Given the description of an element on the screen output the (x, y) to click on. 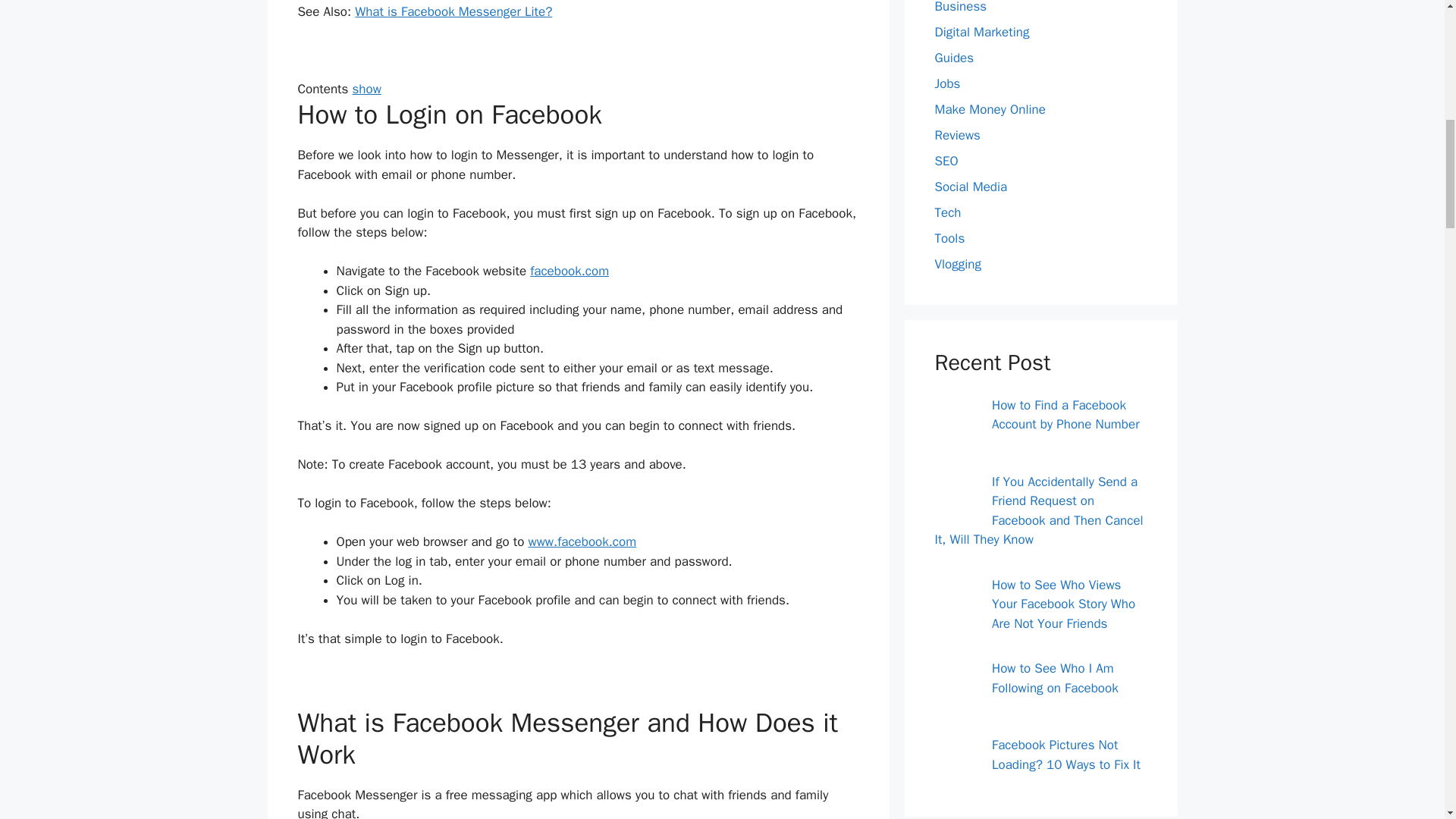
How to Find a Facebook Account by Phone Number (953, 423)
Facebook Pictures Not Loading? 10 Ways to Fix It (953, 763)
How to See Who I Am Following on Facebook (953, 687)
show (366, 89)
What is Facebook Messenger Lite? (453, 11)
